Given the description of an element on the screen output the (x, y) to click on. 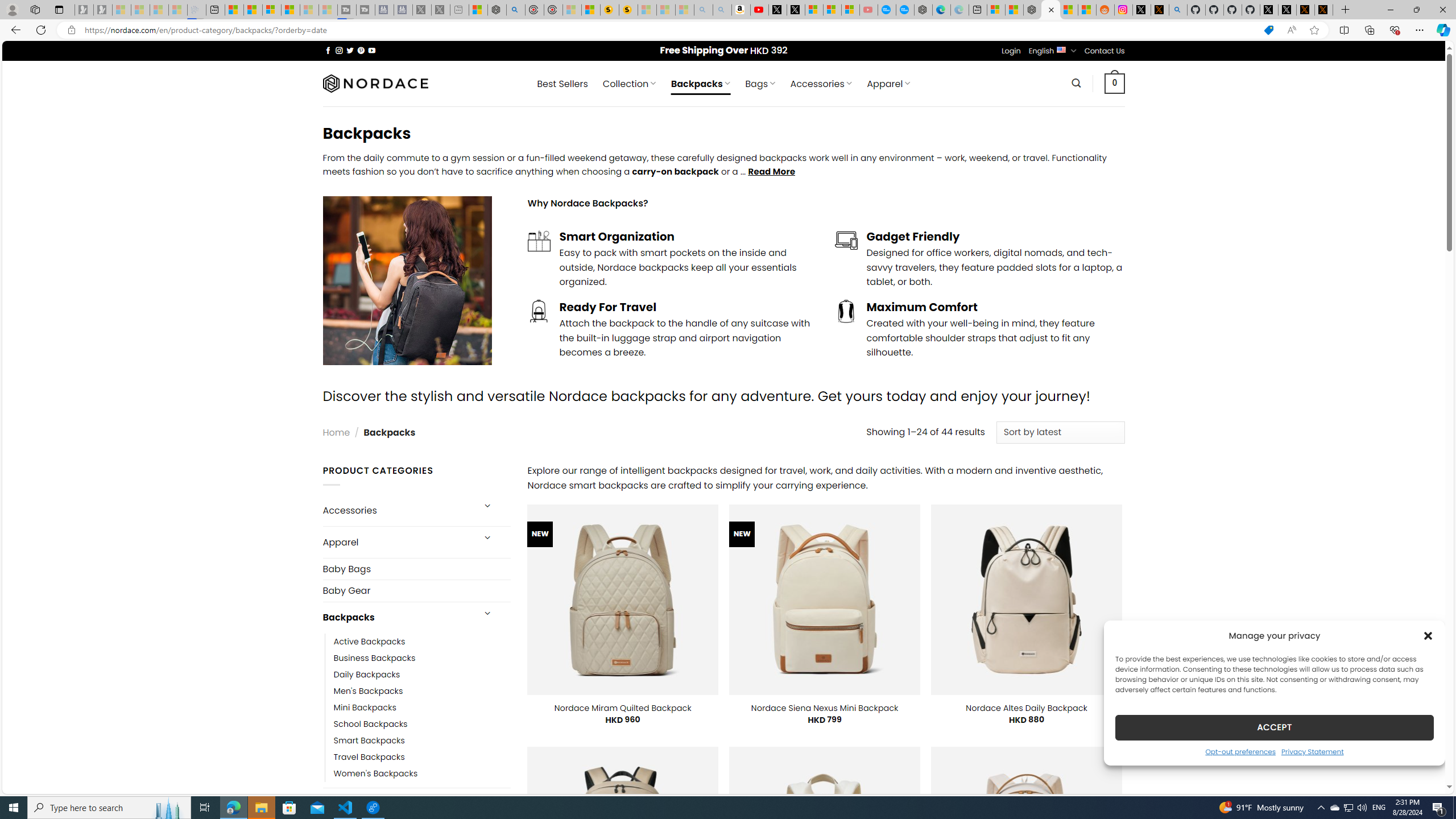
Nordace - Summer Adventures 2024 (497, 9)
Wildlife - MSN (478, 9)
Follow on Instagram (338, 49)
Backpacks (397, 617)
 Best Sellers (562, 83)
Baby Bags (416, 568)
Daily Backpacks (422, 674)
Overview (271, 9)
Streaming Coverage | T3 - Sleeping (347, 9)
Follow on Twitter (349, 49)
